Given the description of an element on the screen output the (x, y) to click on. 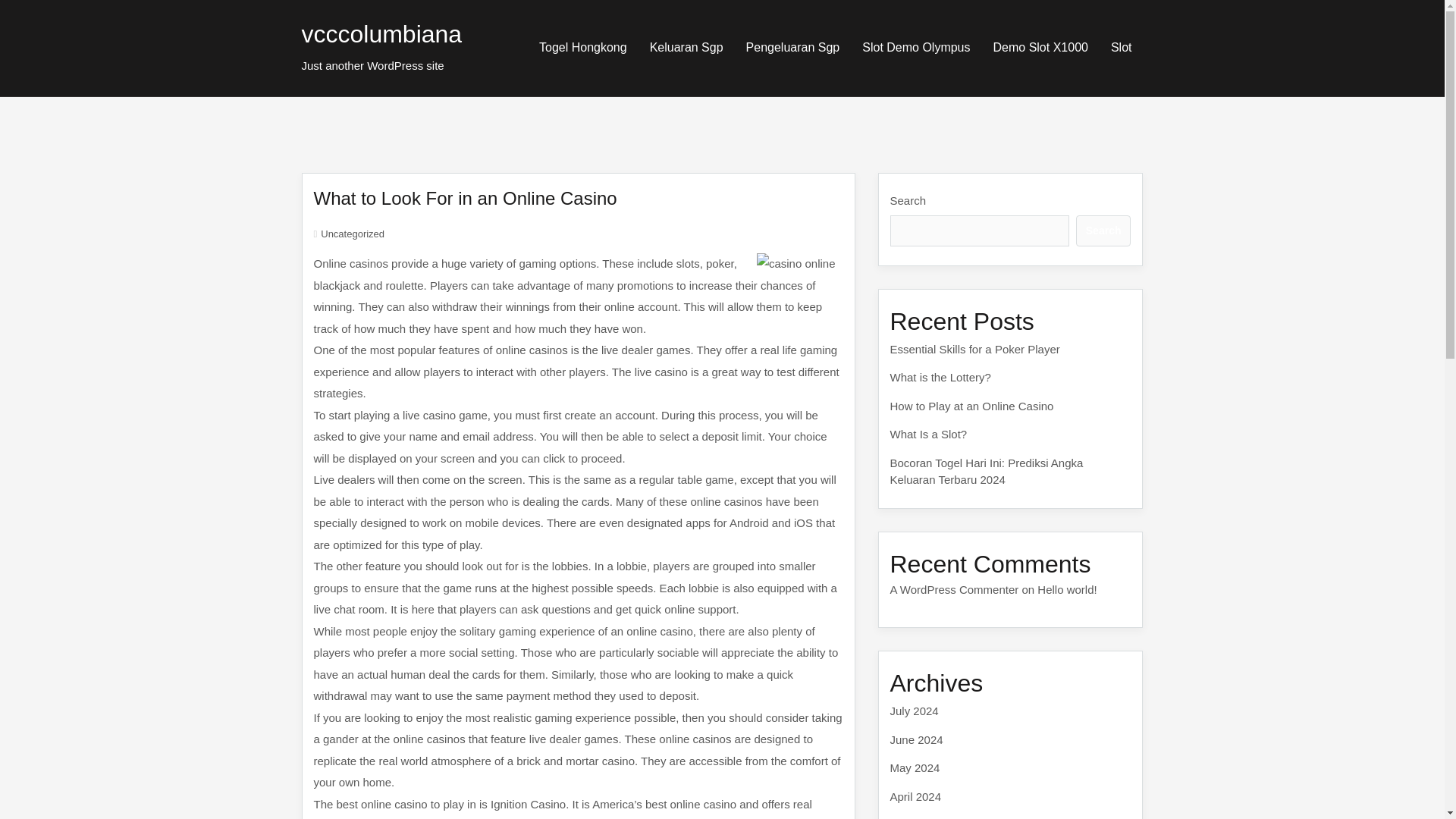
What to Look For in an Online Casino (465, 198)
Pengeluaran Sgp (793, 47)
Bocoran Togel Hari Ini: Prediksi Angka Keluaran Terbaru 2024 (986, 471)
Demo Slot X1000 (1040, 47)
How to Play at an Online Casino (971, 404)
keluaran sgp (687, 47)
June 2024 (916, 738)
What Is a Slot? (928, 433)
Slot (1120, 47)
Slot Demo Olympus (915, 47)
Uncategorized (352, 233)
Hello world! (1066, 588)
Essential Skills for a Poker Player (974, 349)
slot demo olympus (915, 47)
slot (1120, 47)
